Given the description of an element on the screen output the (x, y) to click on. 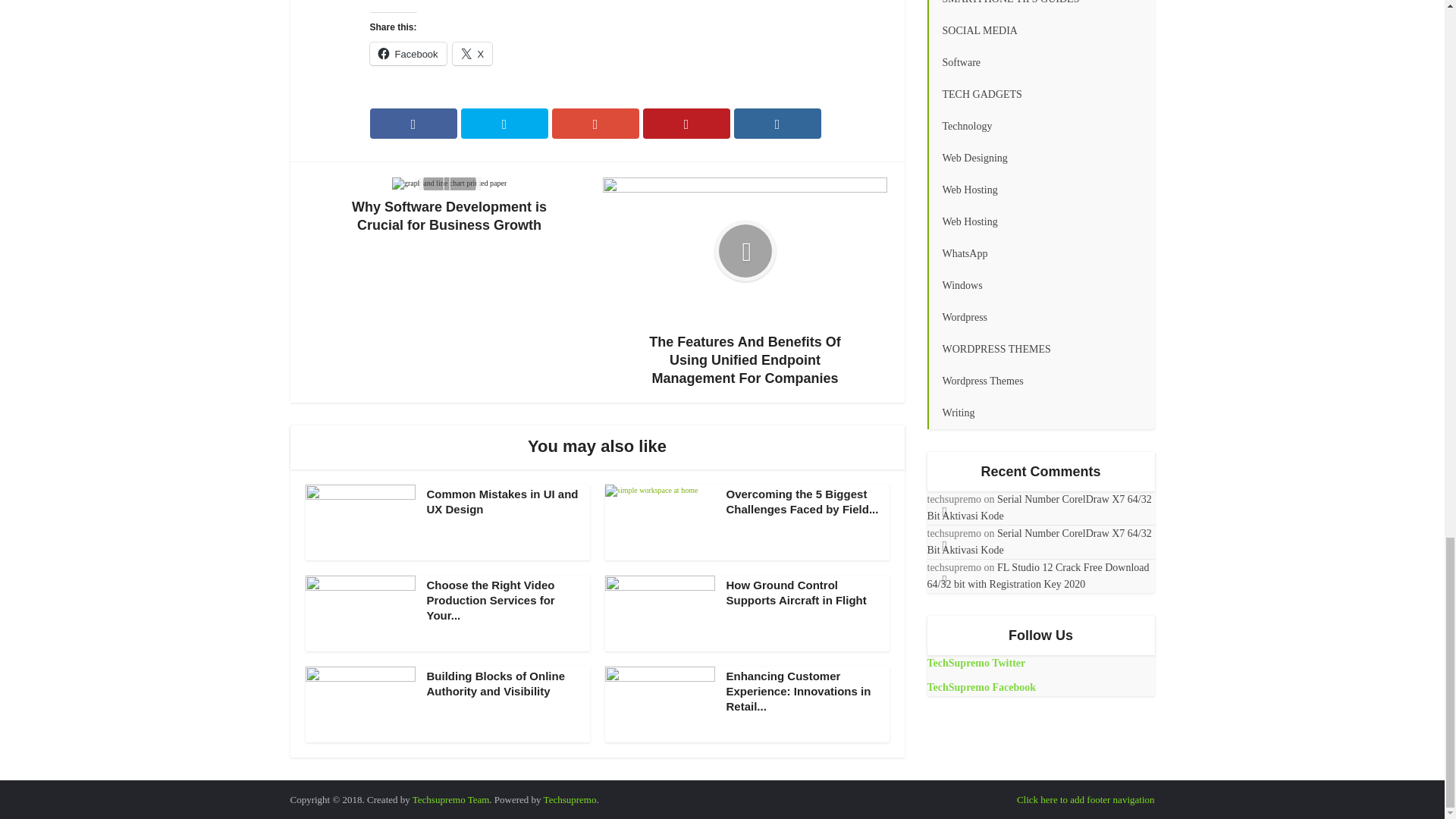
Building Blocks of Online Authority and Visibility (495, 683)
Common Mistakes in UI and UX Design (502, 501)
How Ground Control Supports Aircraft in Flight (796, 592)
X (472, 53)
Why Software Development is Crucial for Business Growth (449, 205)
Facebook (407, 53)
Choose the Right Video Production Services for Your Project (490, 600)
Click to share on X (472, 53)
Common Mistakes in UI and UX Design (502, 501)
